Given the description of an element on the screen output the (x, y) to click on. 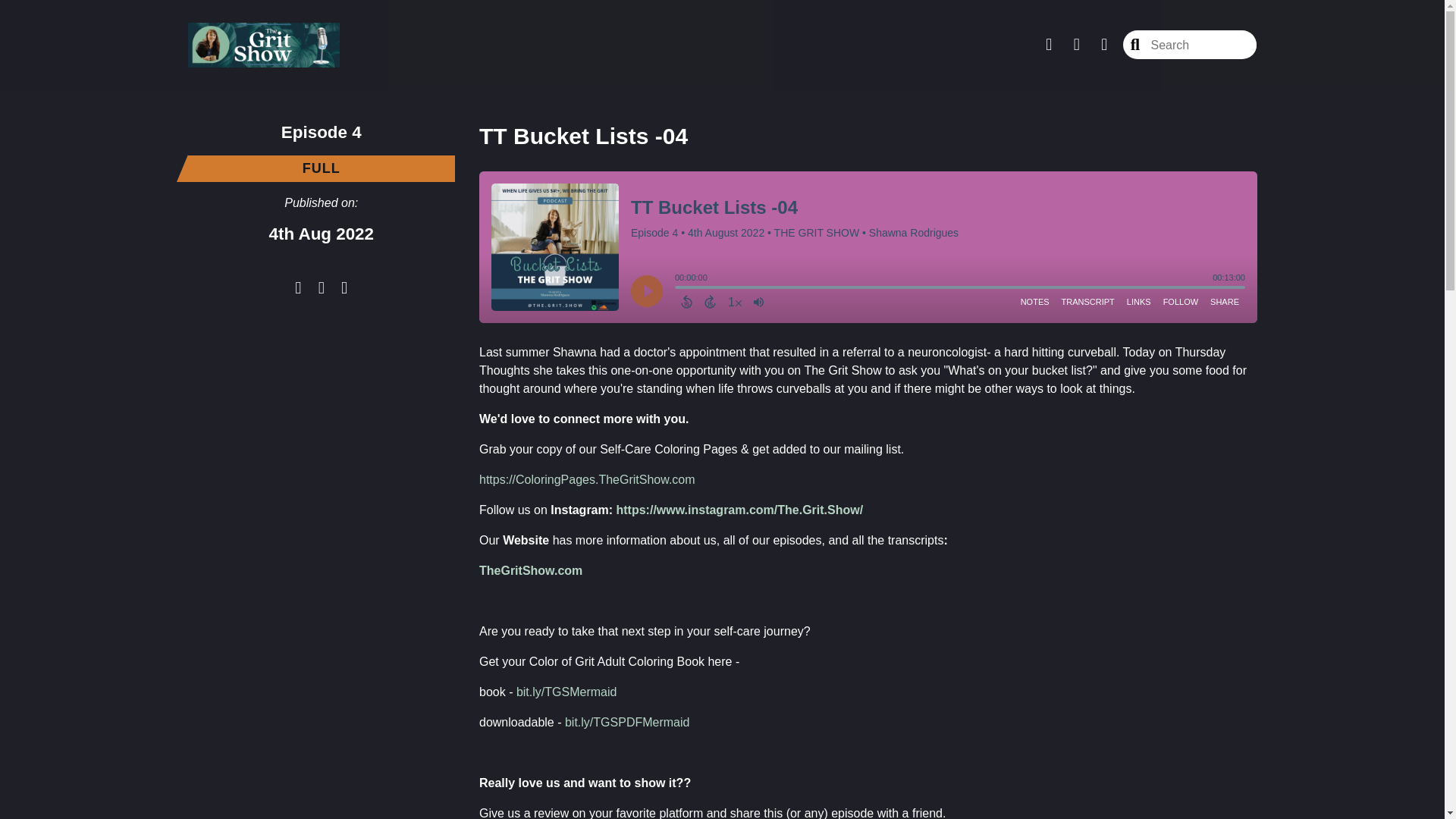
TheGritShow.com (530, 570)
